Given the description of an element on the screen output the (x, y) to click on. 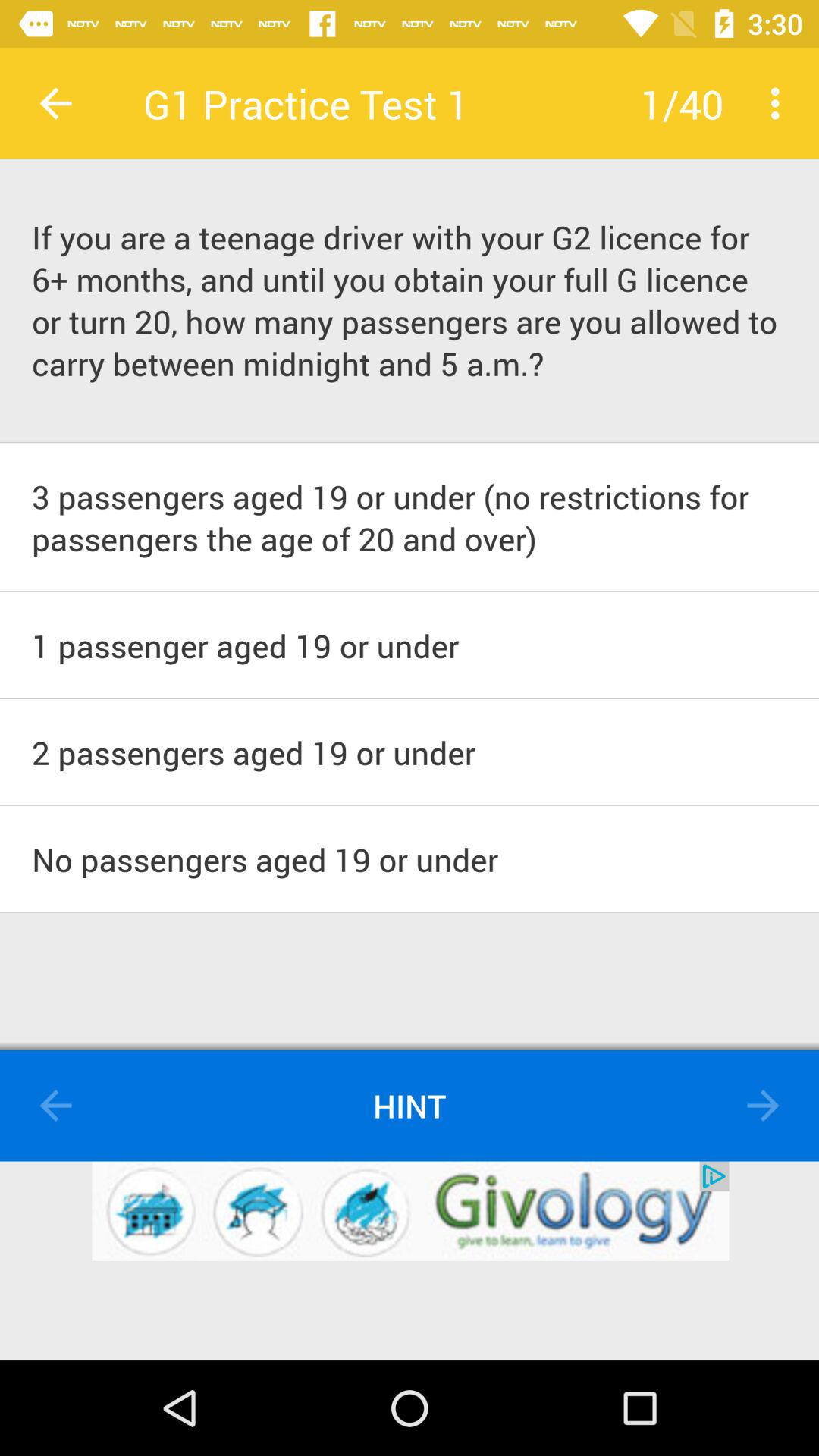
next (763, 1105)
